Given the description of an element on the screen output the (x, y) to click on. 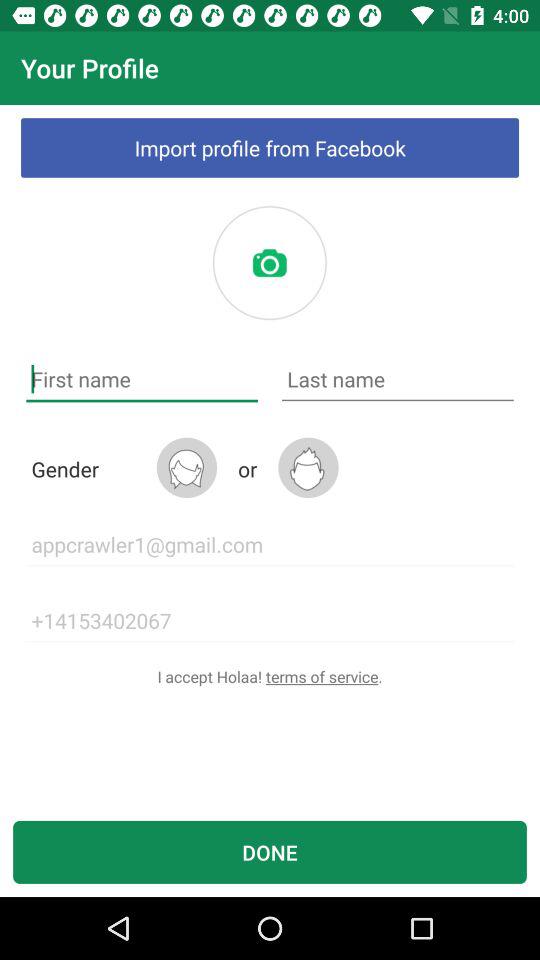
click item above done icon (269, 676)
